Given the description of an element on the screen output the (x, y) to click on. 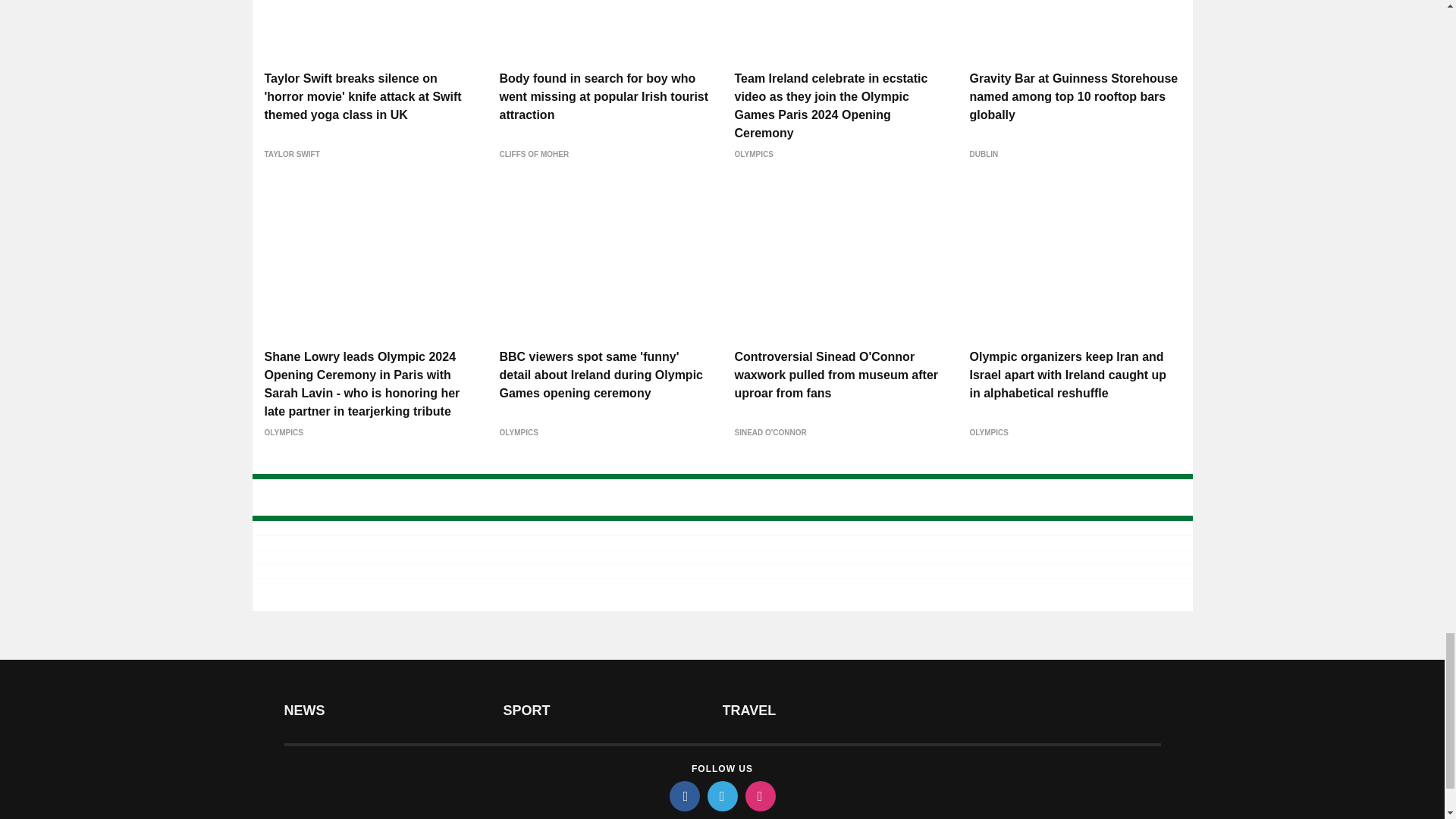
twitter (721, 796)
facebook (683, 796)
instagram (759, 796)
